Given the description of an element on the screen output the (x, y) to click on. 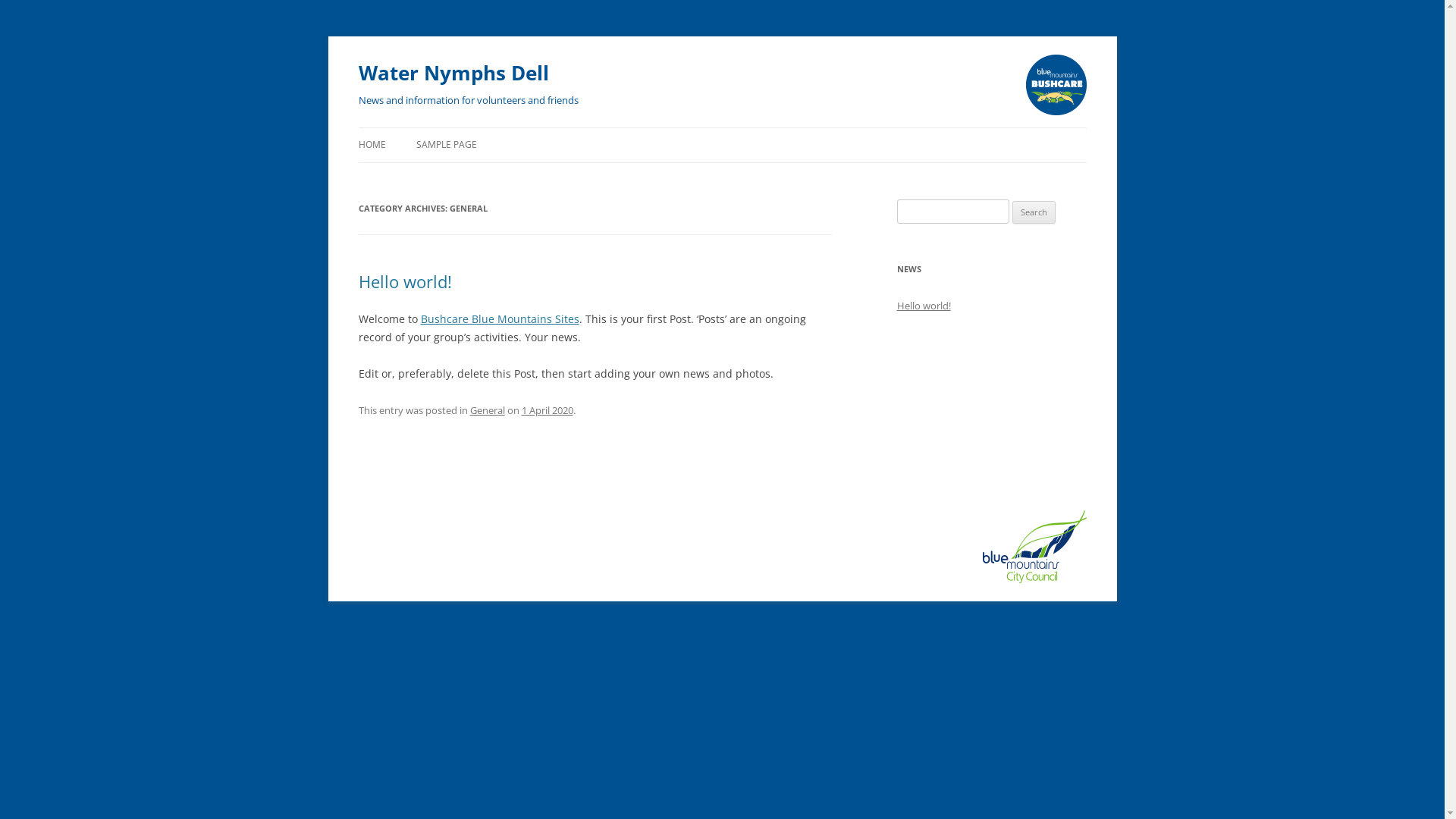
Hello world! Element type: text (404, 280)
Water Nymphs Dell Element type: text (452, 72)
Skip to content Element type: text (357, 145)
Search Element type: text (1033, 211)
SAMPLE PAGE Element type: text (445, 144)
Bushcare Blue Mountains Sites Element type: text (499, 318)
HOME Element type: text (371, 144)
1 April 2020 Element type: text (547, 410)
General Element type: text (487, 410)
Hello world! Element type: text (923, 305)
